Given the description of an element on the screen output the (x, y) to click on. 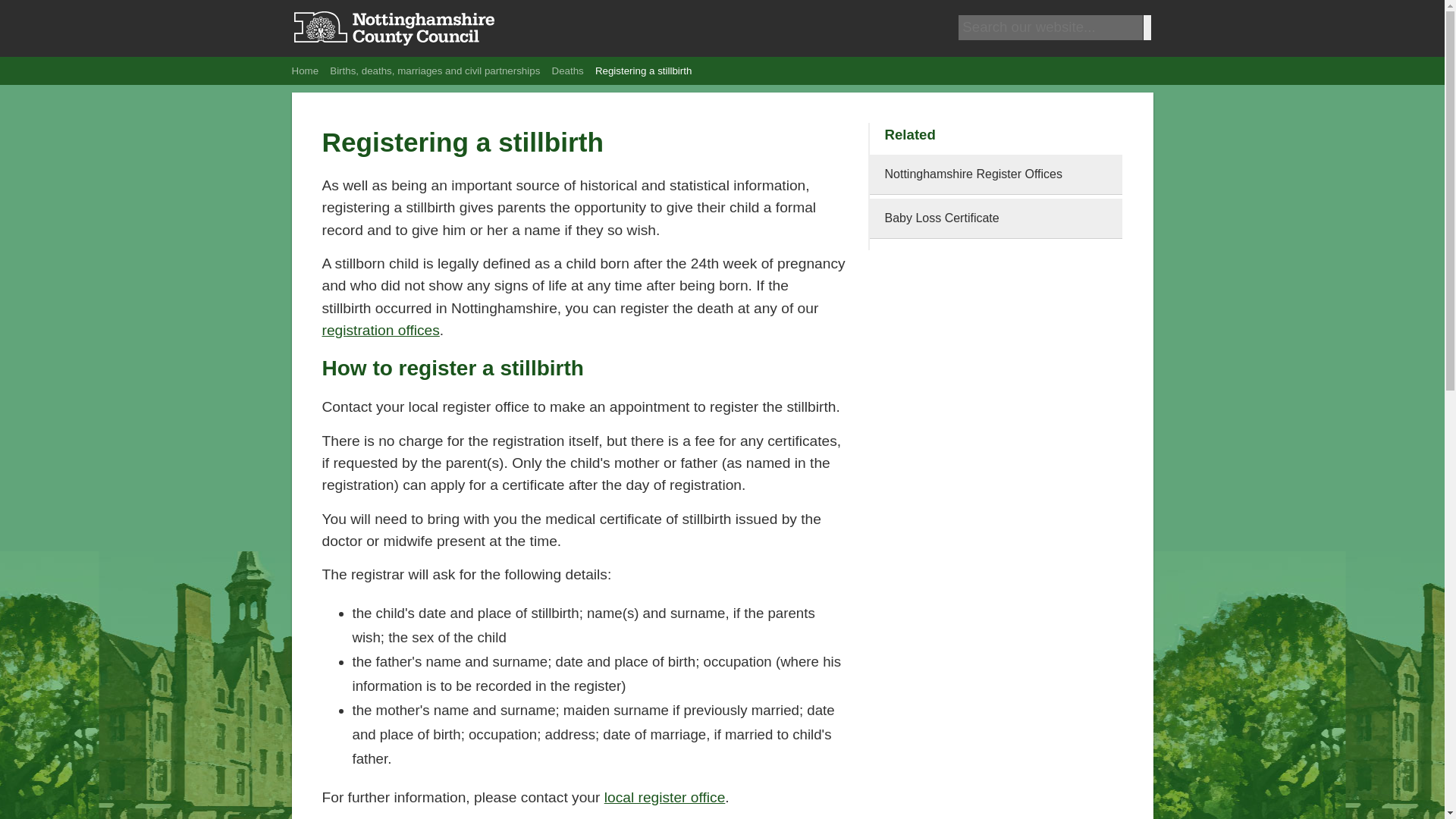
Nottinghamshire Register Offices (995, 174)
Nottinghamshire Register Offices (380, 330)
registration offices (380, 330)
Home (306, 70)
Registering a stillbirth (643, 70)
Baby Loss Certificate (995, 219)
Deaths (569, 70)
local register office (664, 797)
Nottinghamshire Register Offices (664, 797)
Births, deaths, marriages and civil partnerships (436, 70)
